Given the description of an element on the screen output the (x, y) to click on. 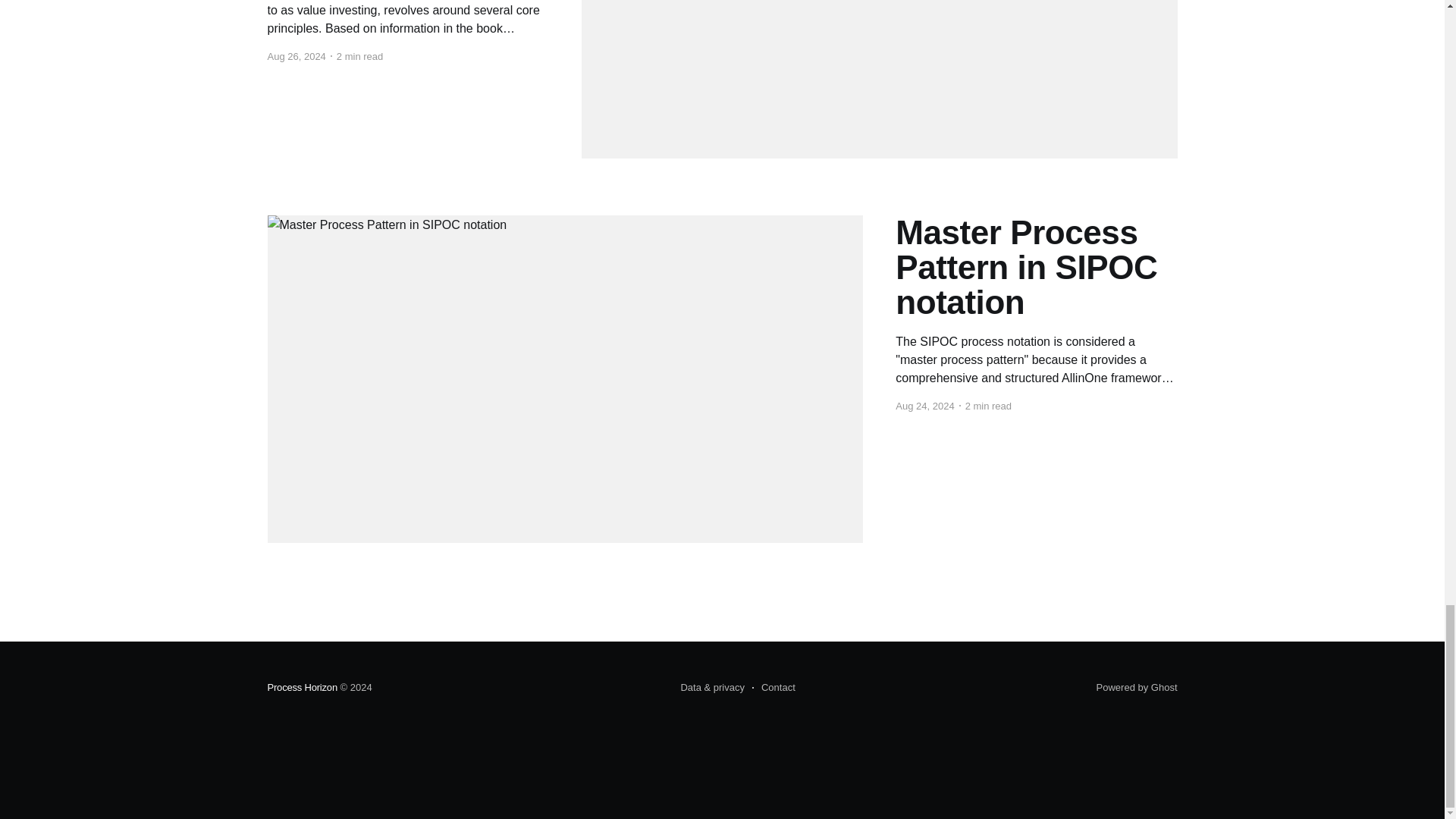
Powered by Ghost (1136, 686)
Contact (773, 687)
Process Horizon (301, 686)
